Given the description of an element on the screen output the (x, y) to click on. 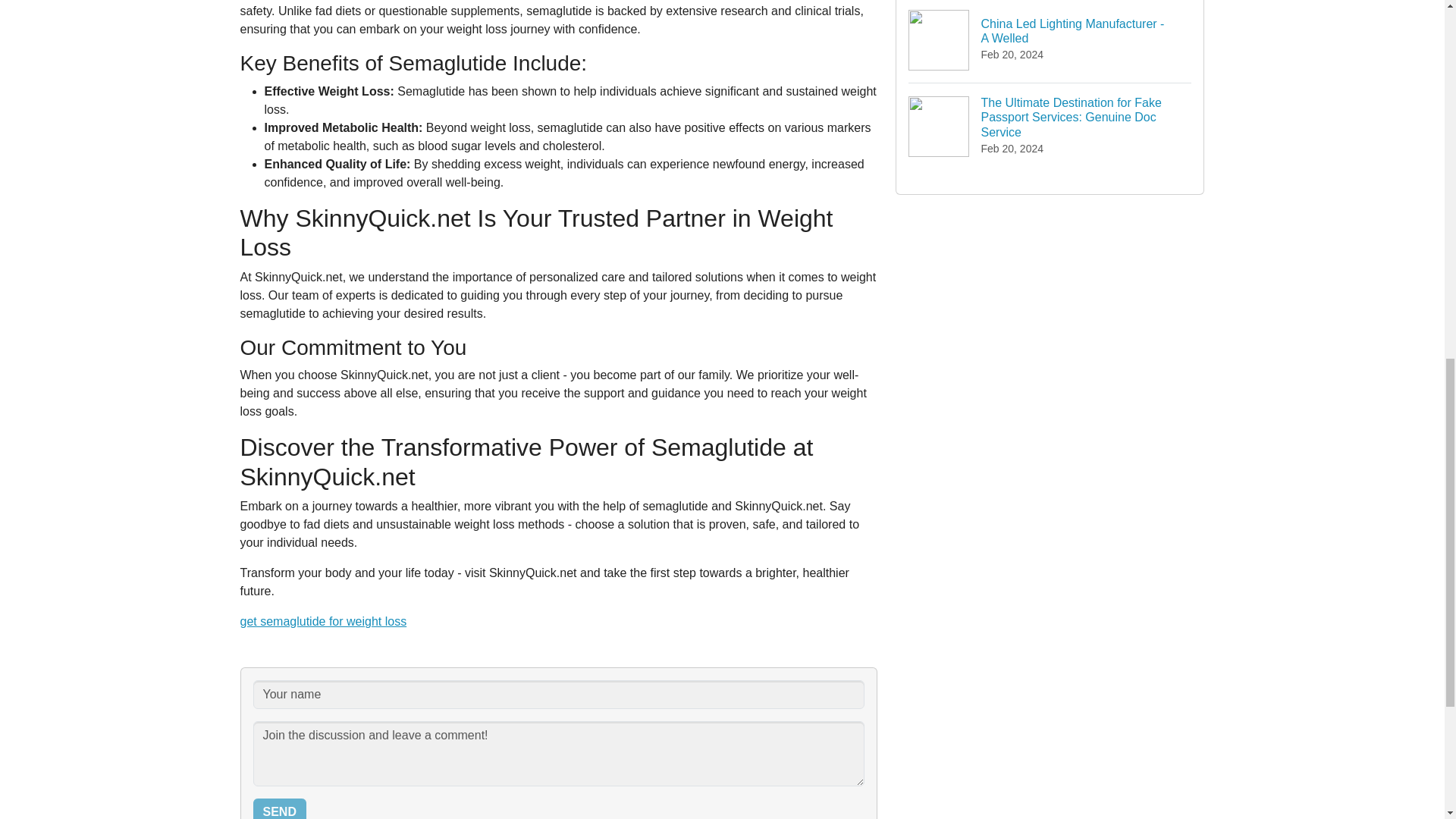
get semaglutide for weight loss (1050, 41)
Send (323, 621)
Send (279, 808)
